Given the description of an element on the screen output the (x, y) to click on. 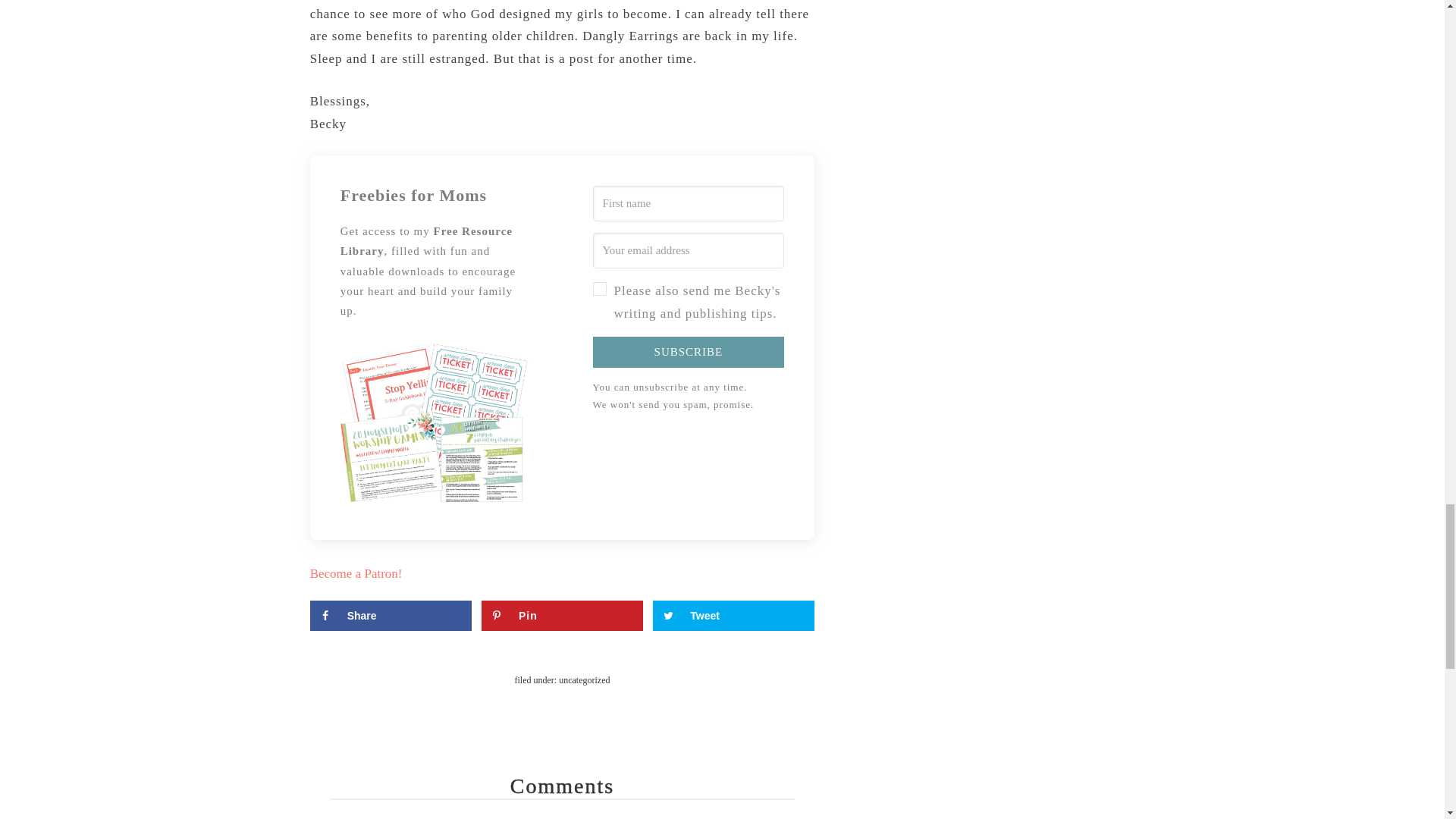
Become a Patron! (356, 573)
Save to Pinterest (562, 615)
uncategorized (584, 679)
Tweet (732, 615)
Share on Facebook (390, 615)
SUBSCRIBE (688, 351)
Share on Twitter (732, 615)
Share (390, 615)
Pin (562, 615)
